Given the description of an element on the screen output the (x, y) to click on. 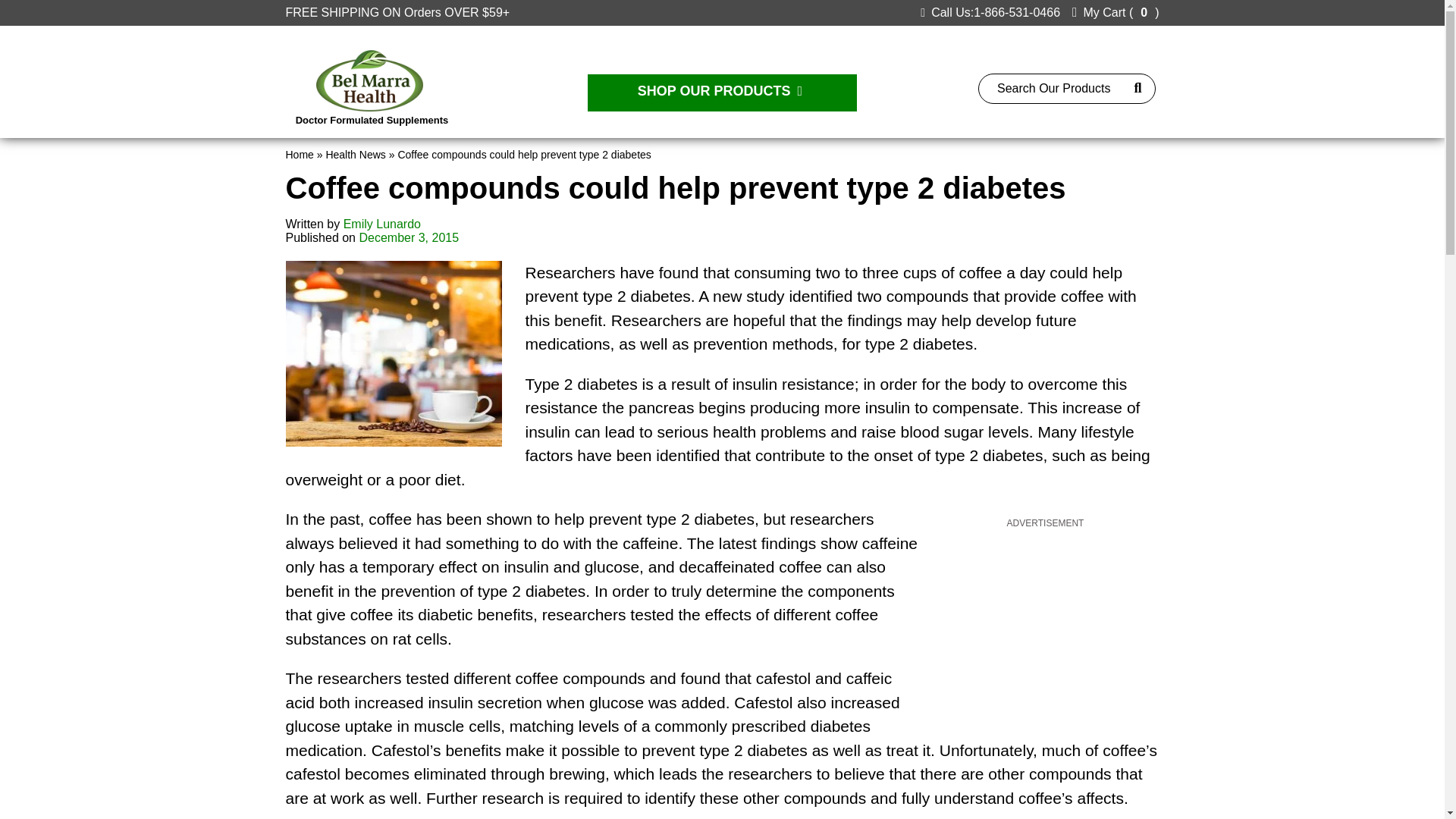
Skip to the content (50, 6)
Posts by Emily Lunardo (381, 223)
SHOP OUR PRODUCTS (721, 92)
Call Us:1-866-531-0466 (989, 11)
